Given the description of an element on the screen output the (x, y) to click on. 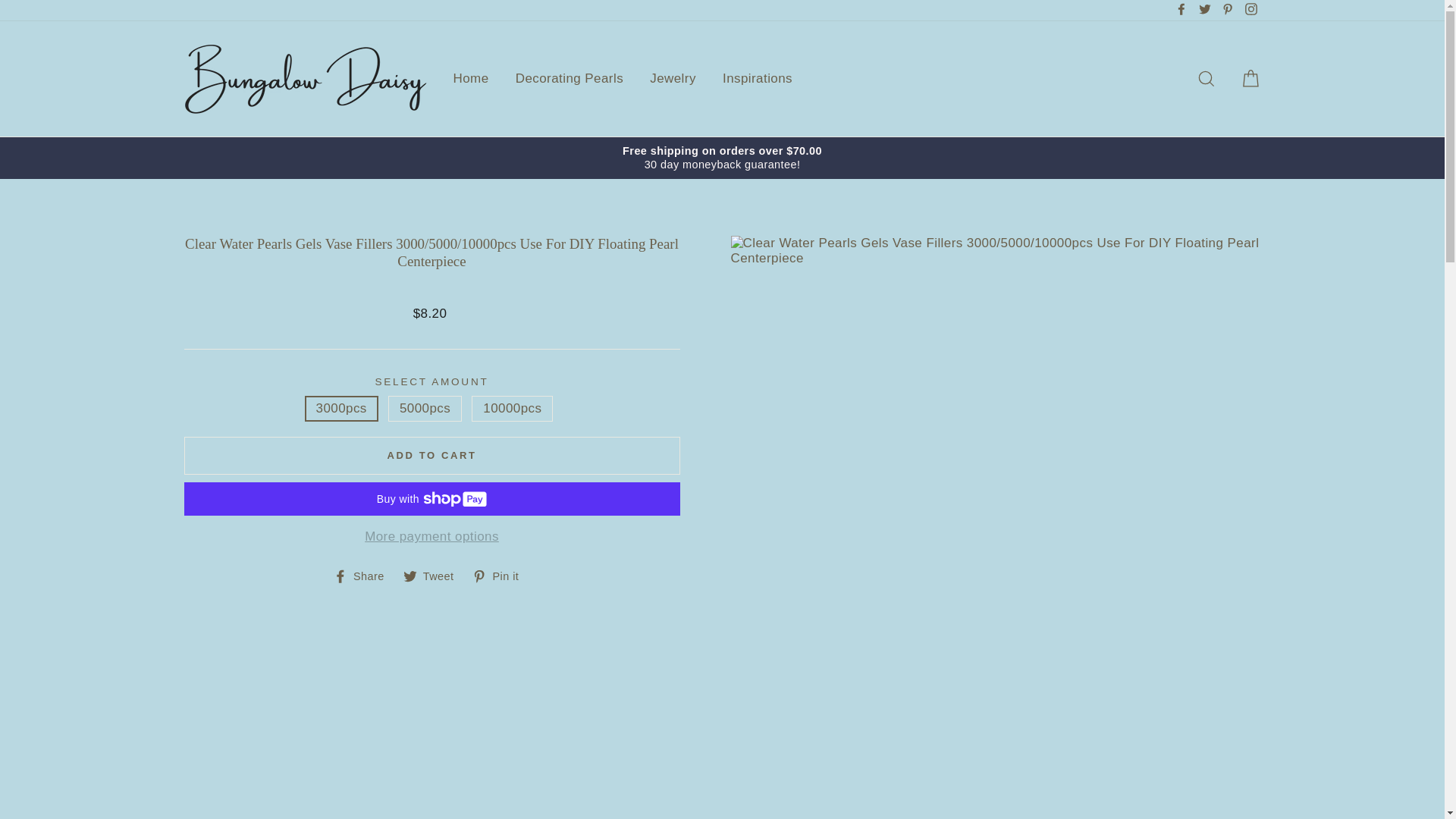
Decorating Pearls (568, 79)
Facebook (1181, 10)
Twitter (1204, 10)
Share on Facebook (364, 576)
Instagram (1250, 10)
Bungalow Daisy on Instagram (1250, 10)
Bungalow Daisy on Facebook (1181, 10)
Bungalow Daisy on Twitter (1204, 10)
